Given the description of an element on the screen output the (x, y) to click on. 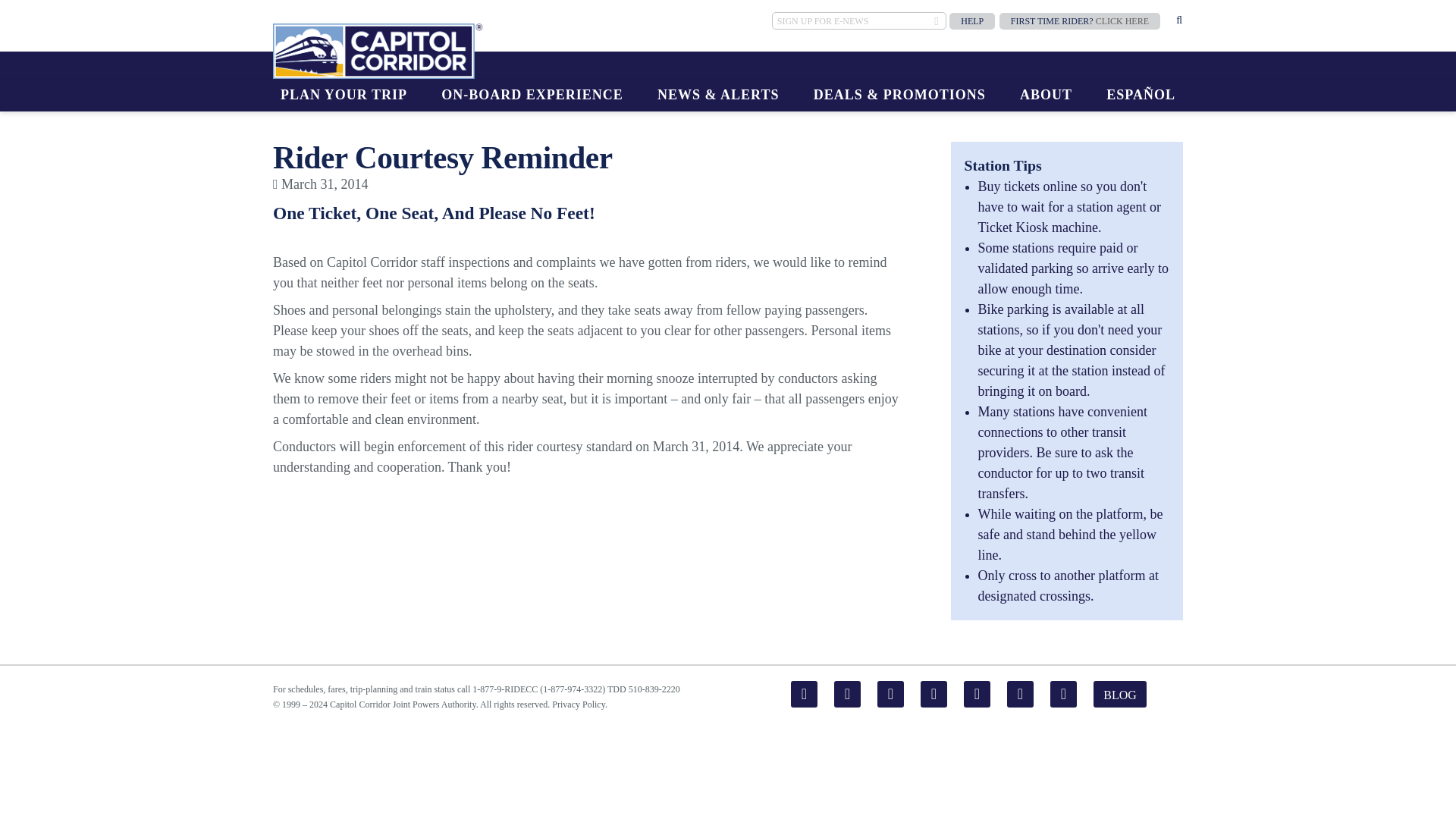
PLAN YOUR TRIP (343, 94)
HELP (971, 21)
privacy-policy (578, 704)
FIRST TIME RIDER? CLICK HERE (1079, 21)
ON-BOARD EXPERIENCE (531, 94)
